Given the description of an element on the screen output the (x, y) to click on. 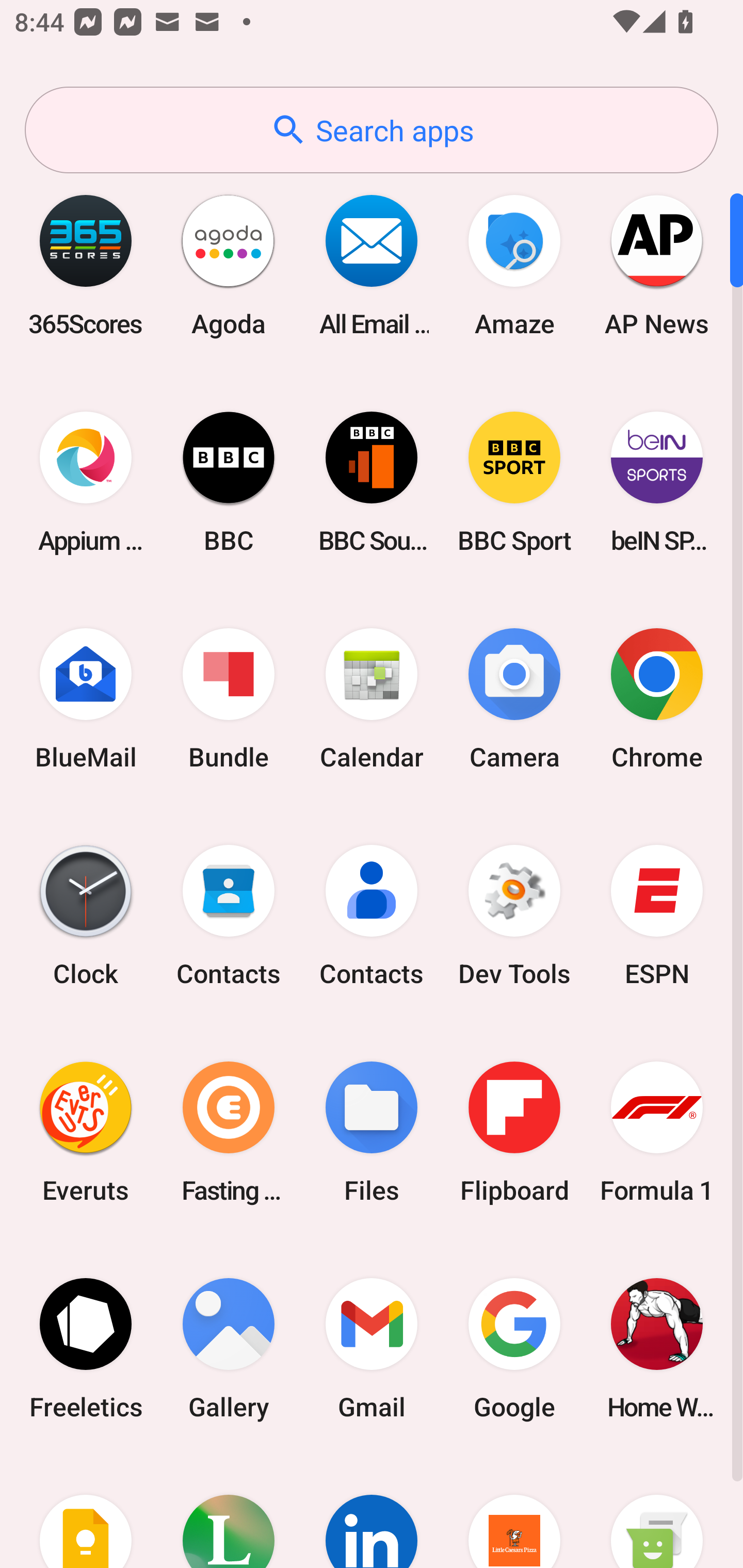
  Search apps (371, 130)
365Scores (85, 264)
Agoda (228, 264)
All Email Connect (371, 264)
Amaze (514, 264)
AP News (656, 264)
Appium Settings (85, 482)
BBC (228, 482)
BBC Sounds (371, 482)
BBC Sport (514, 482)
beIN SPORTS (656, 482)
BlueMail (85, 699)
Bundle (228, 699)
Calendar (371, 699)
Camera (514, 699)
Chrome (656, 699)
Clock (85, 915)
Contacts (228, 915)
Contacts (371, 915)
Dev Tools (514, 915)
ESPN (656, 915)
Everuts (85, 1131)
Fasting Coach (228, 1131)
Files (371, 1131)
Flipboard (514, 1131)
Formula 1 (656, 1131)
Freeletics (85, 1348)
Gallery (228, 1348)
Gmail (371, 1348)
Google (514, 1348)
Home Workout (656, 1348)
Keep Notes (85, 1512)
Lifesum (228, 1512)
LinkedIn (371, 1512)
Little Caesars Pizza (514, 1512)
Messaging (656, 1512)
